Given the description of an element on the screen output the (x, y) to click on. 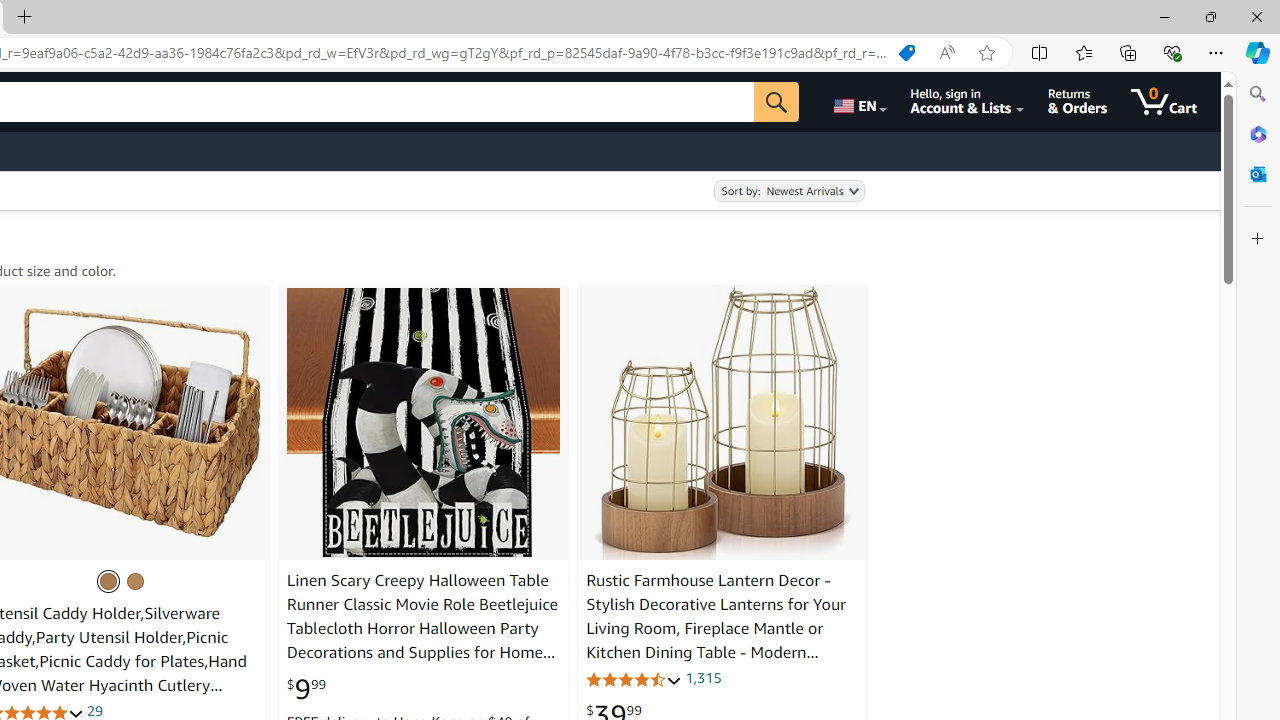
$9.99 (305, 689)
